Given the description of an element on the screen output the (x, y) to click on. 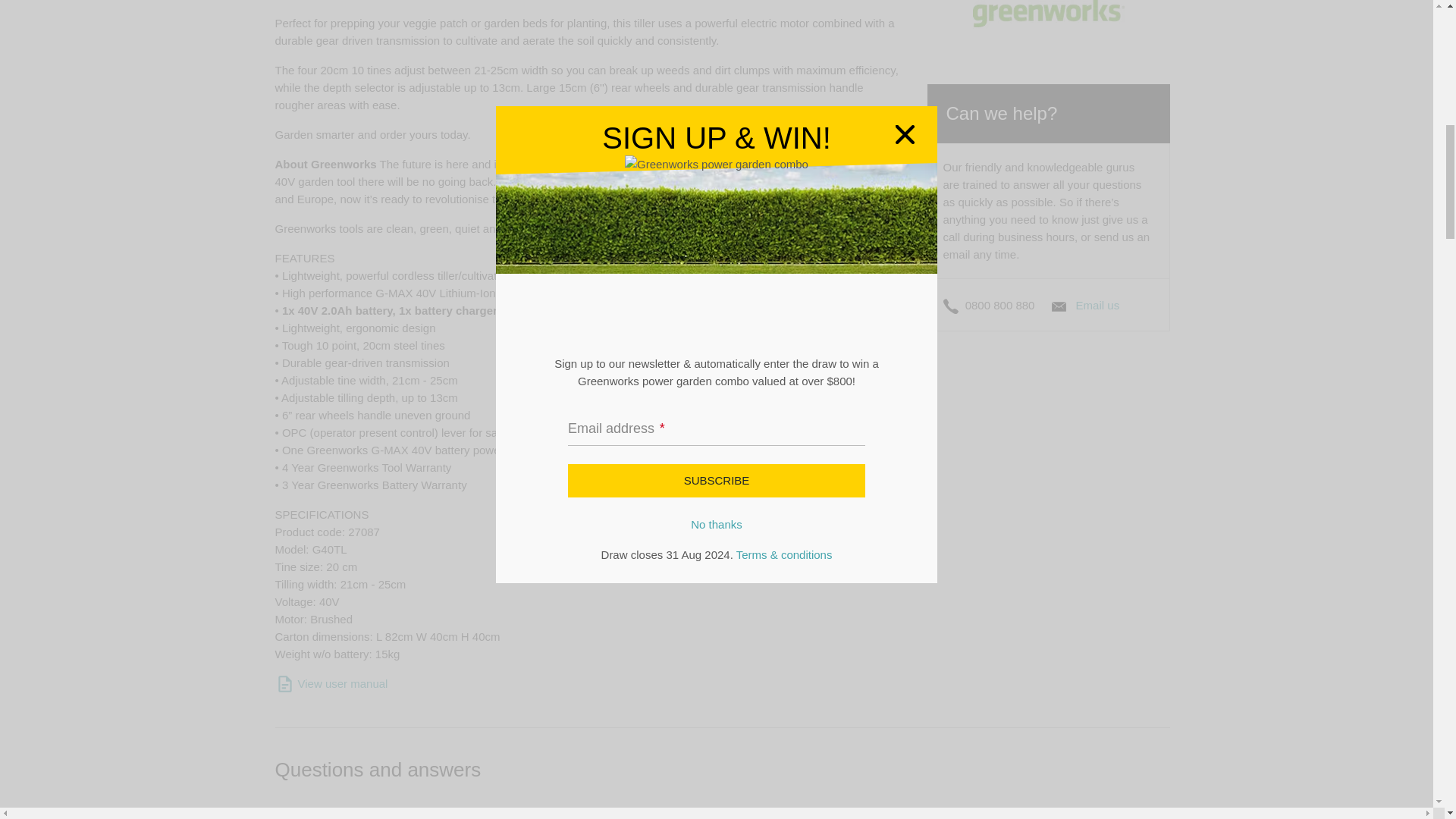
View user manual (331, 683)
Greenworks (1048, 10)
